Given the description of an element on the screen output the (x, y) to click on. 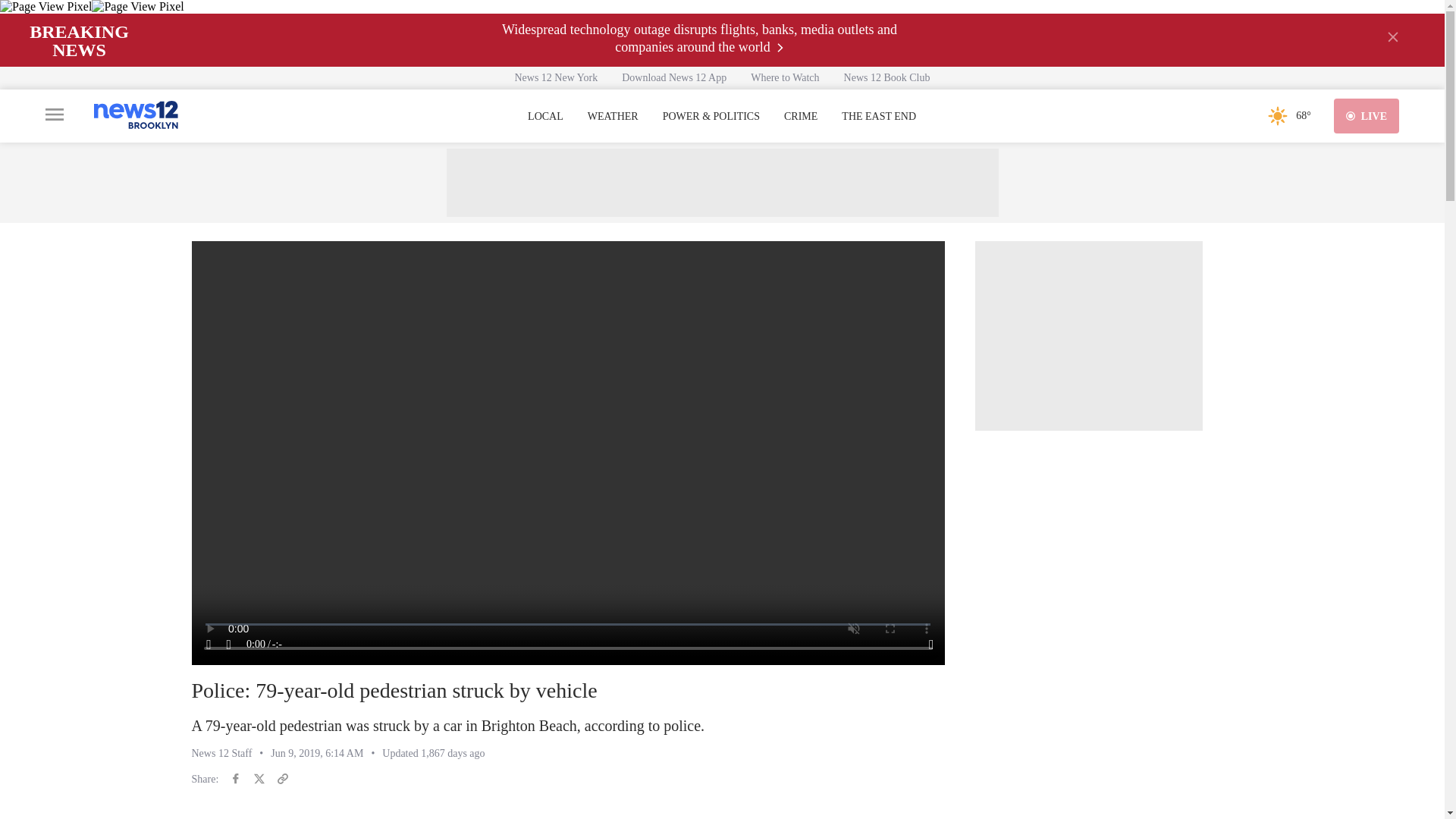
News 12 New York (556, 78)
THE EAST END (878, 116)
CRIME (800, 116)
WEATHER (613, 116)
Where to Watch (784, 78)
LOCAL (545, 116)
Download News 12 App (673, 78)
Sunny (1277, 115)
LIVE (1366, 115)
News 12 Book Club (886, 78)
